Given the description of an element on the screen output the (x, y) to click on. 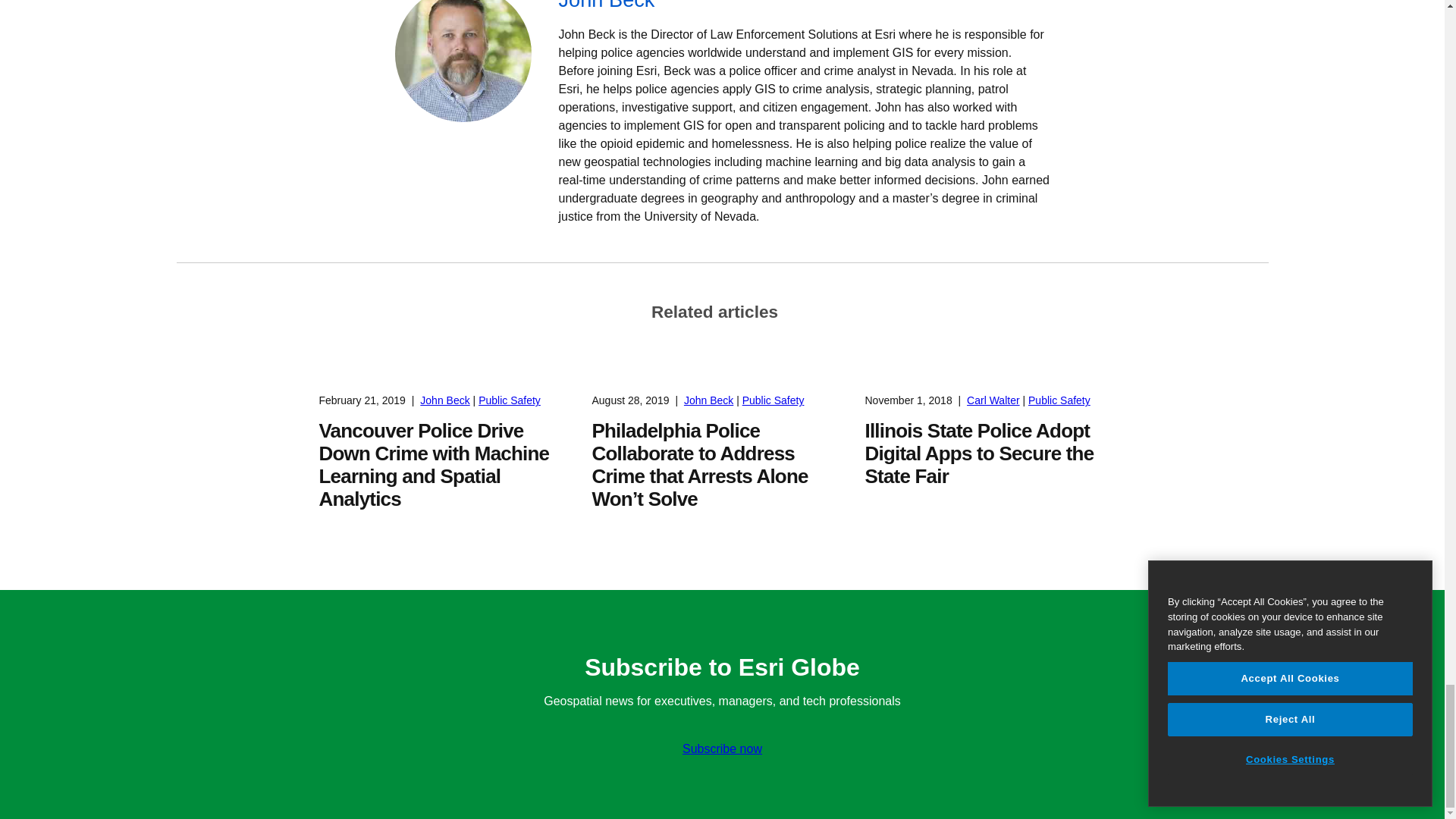
John Beck (803, 7)
